Given the description of an element on the screen output the (x, y) to click on. 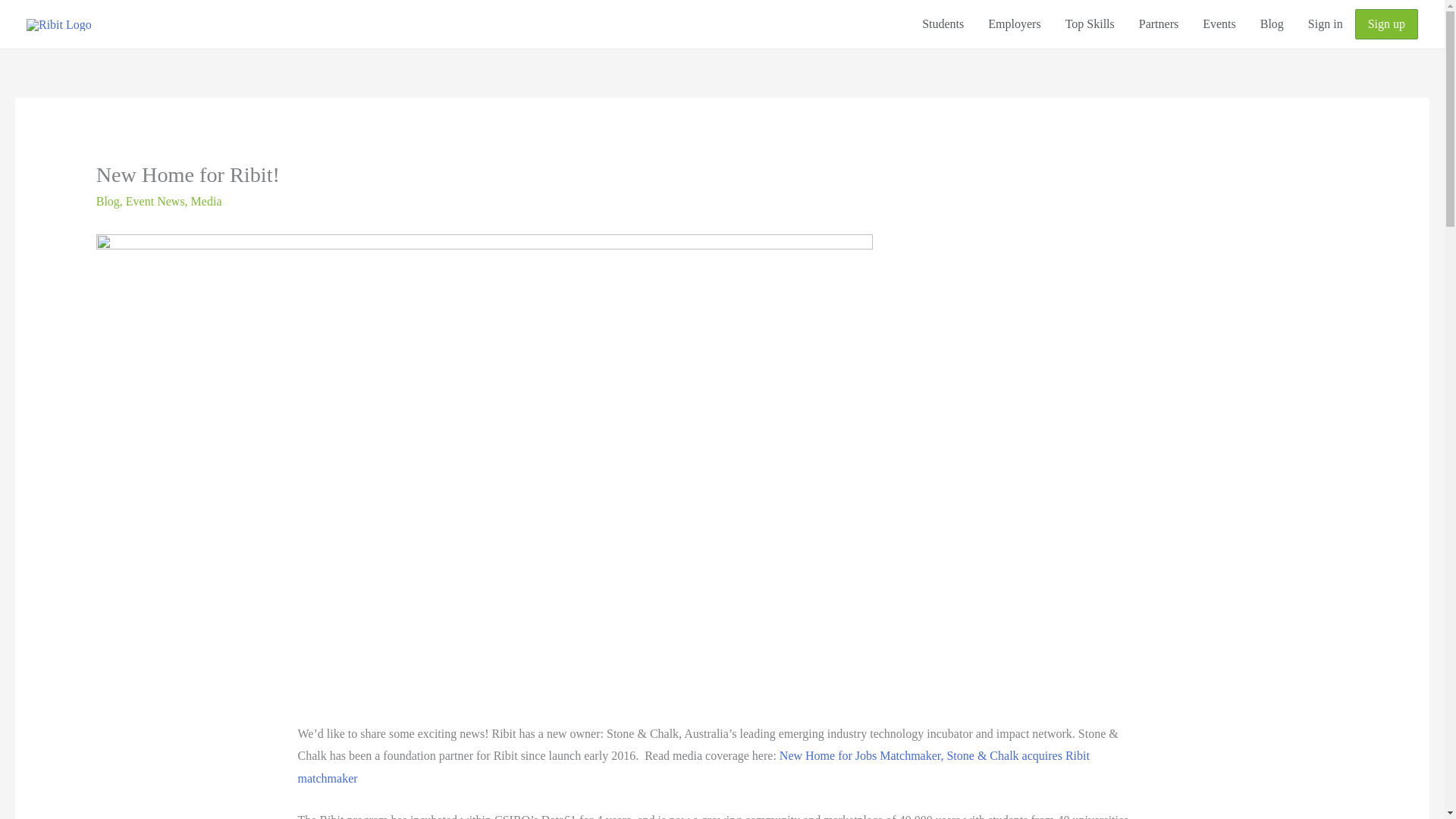
New Home for Jobs Matchmaker (859, 755)
Top Skills (1089, 24)
Sign in (1325, 24)
Blog (107, 201)
Events (1219, 24)
Partners (1158, 24)
Blog (1271, 24)
Media (206, 201)
Event News (154, 201)
Sign up (1386, 24)
Employers (1013, 24)
Students (942, 24)
